Given the description of an element on the screen output the (x, y) to click on. 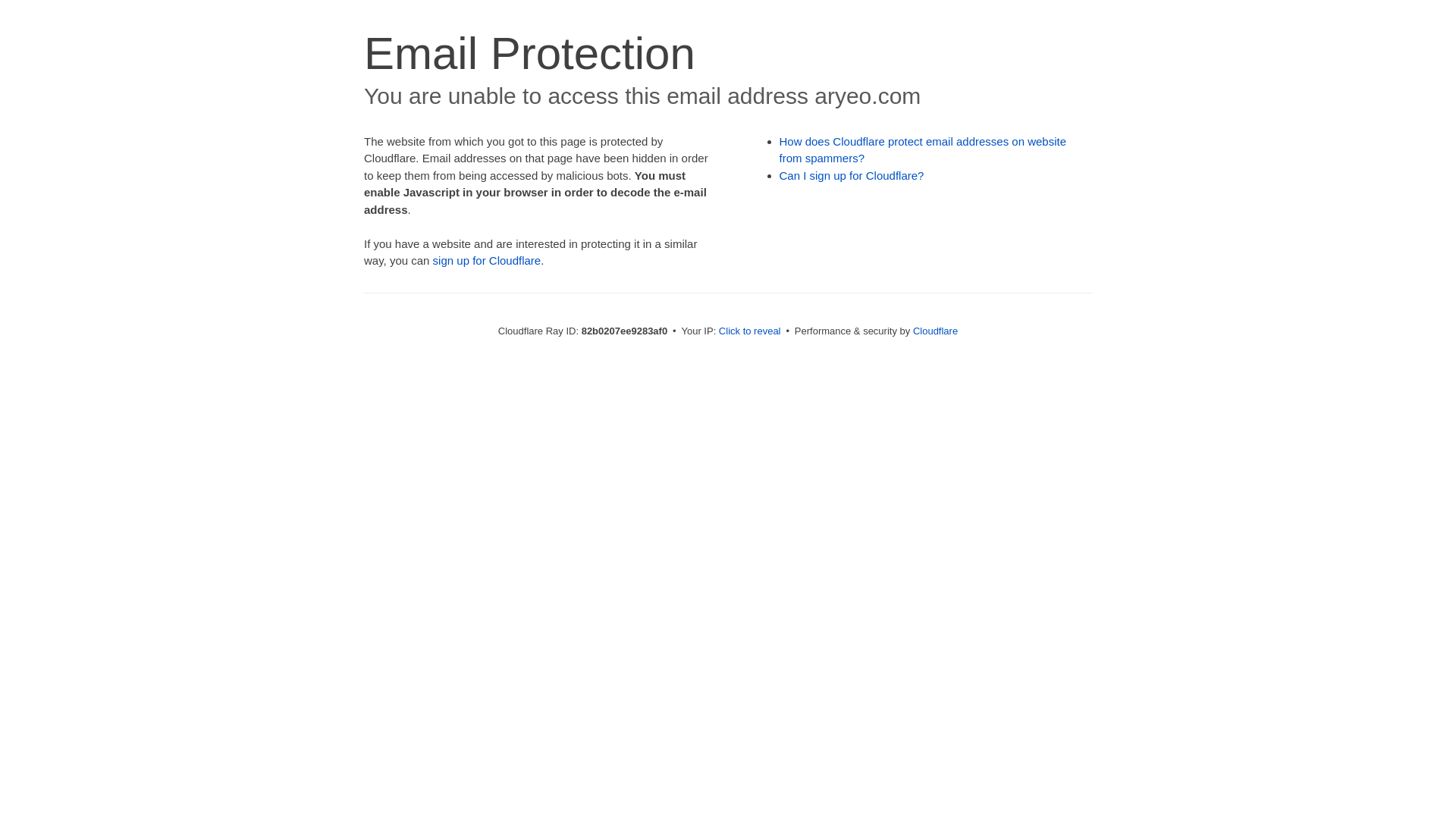
Can I sign up for Cloudflare? Element type: text (851, 175)
Cloudflare Element type: text (935, 330)
sign up for Cloudflare Element type: text (487, 260)
Click to reveal Element type: text (749, 330)
